Given the description of an element on the screen output the (x, y) to click on. 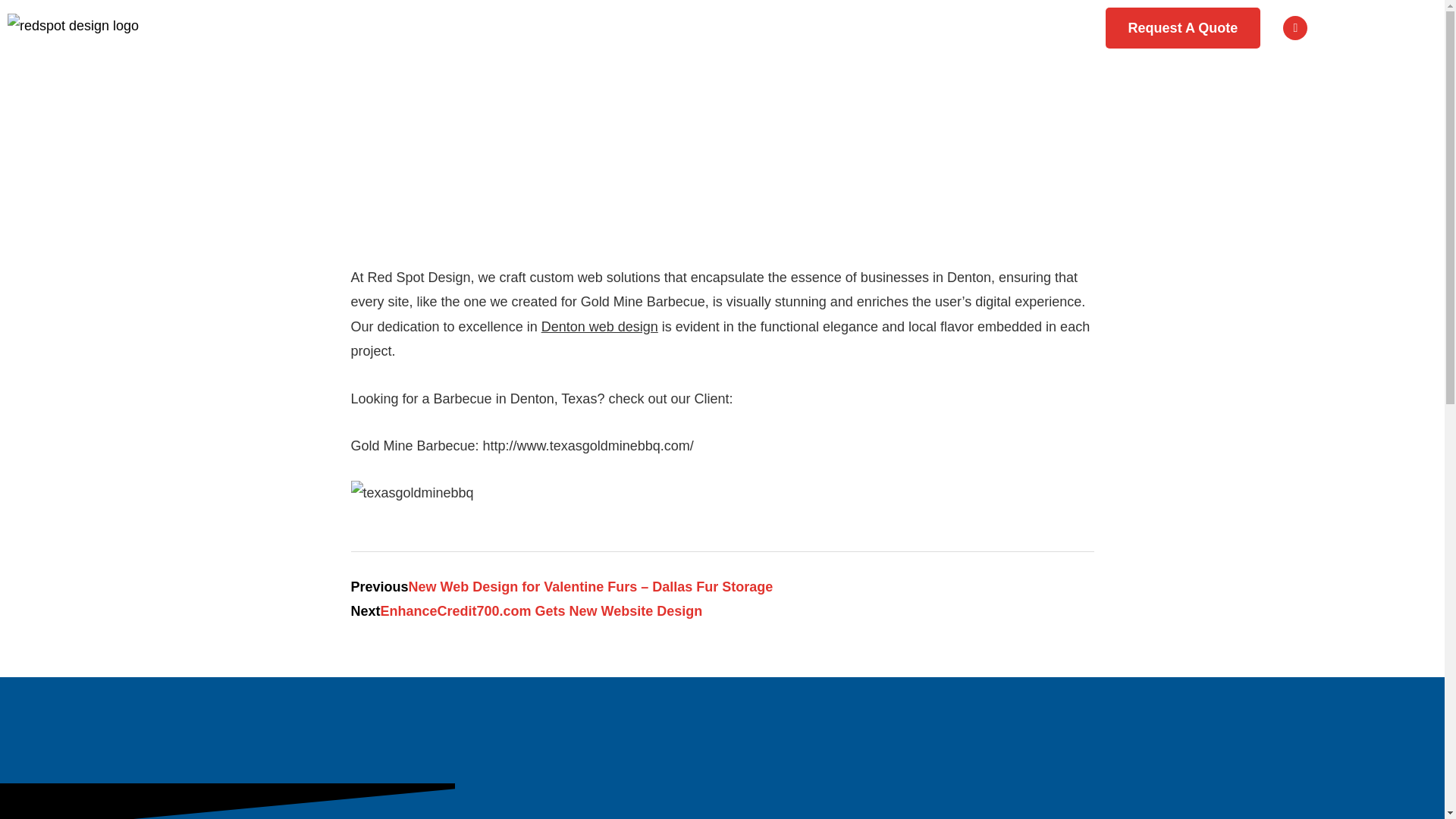
Services (543, 27)
Testimonials (772, 27)
Contact (1003, 27)
Our Work (654, 27)
About Us (896, 27)
